Given the description of an element on the screen output the (x, y) to click on. 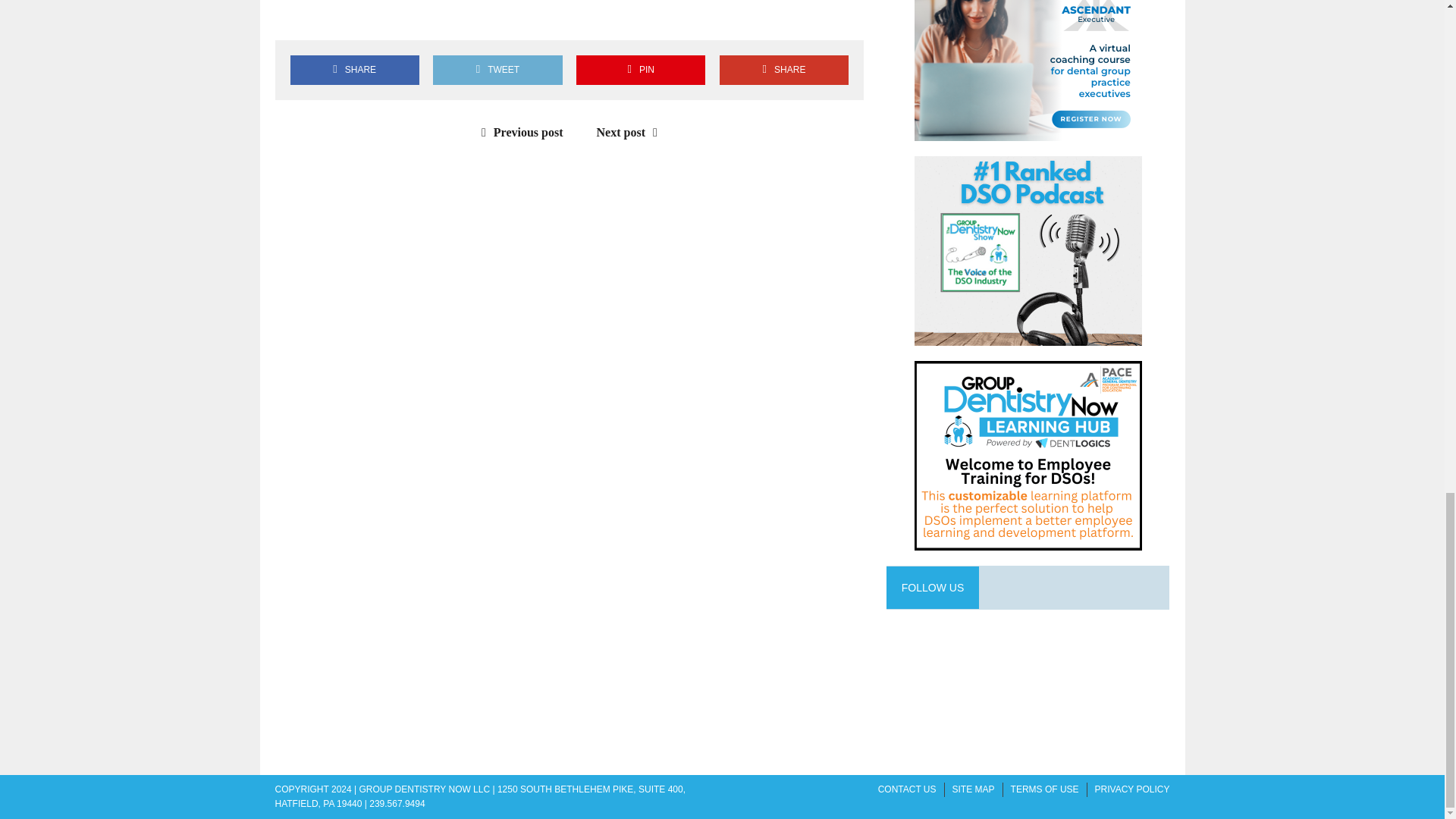
Share on Facebook (293, 16)
Share on Facebook (354, 70)
Share on Twitter (336, 16)
Share on Linkedin (380, 16)
Share by email (424, 16)
Tweet This Post (497, 70)
